Given the description of an element on the screen output the (x, y) to click on. 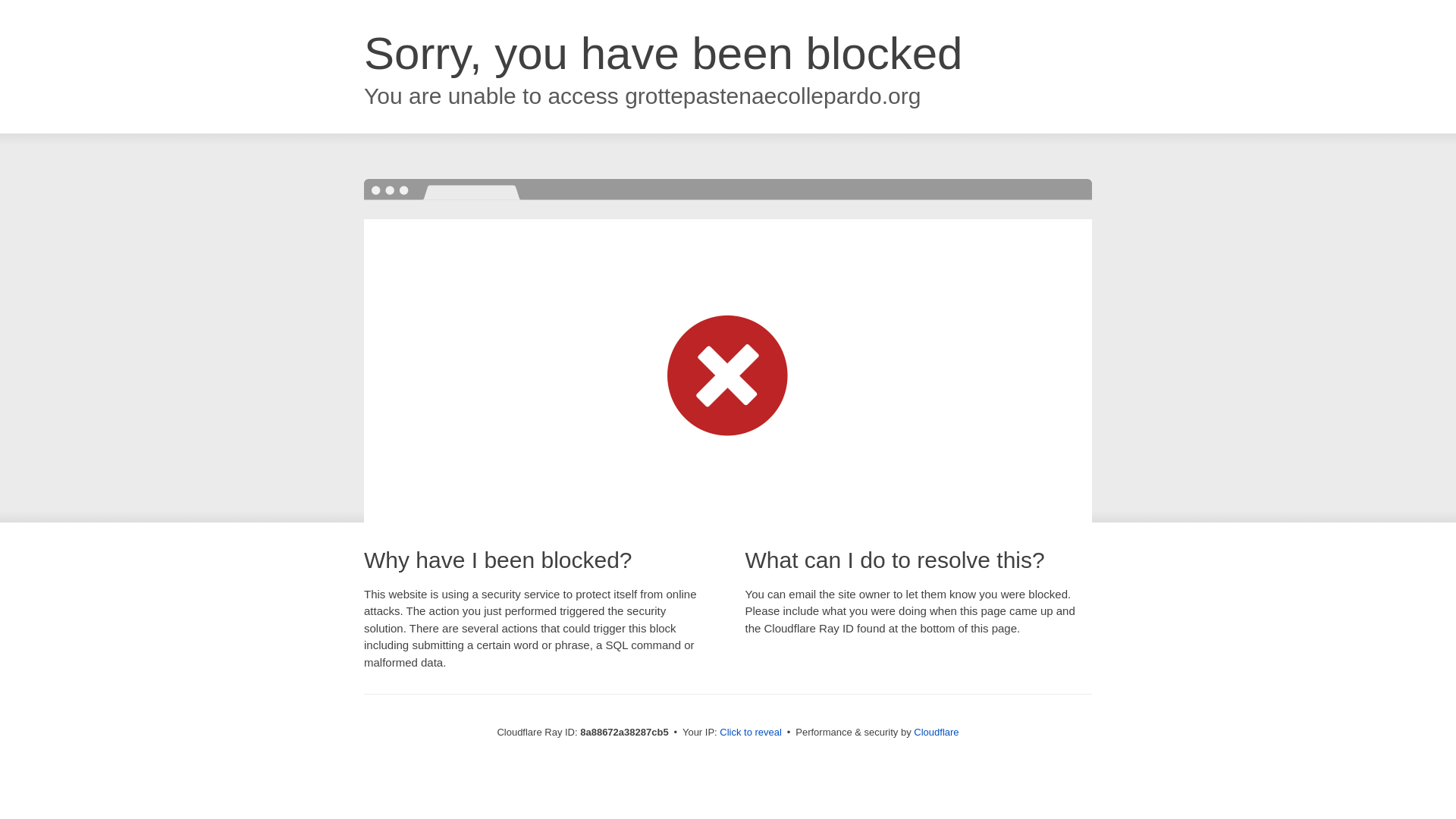
Click to reveal (750, 732)
Cloudflare (936, 731)
